Given the description of an element on the screen output the (x, y) to click on. 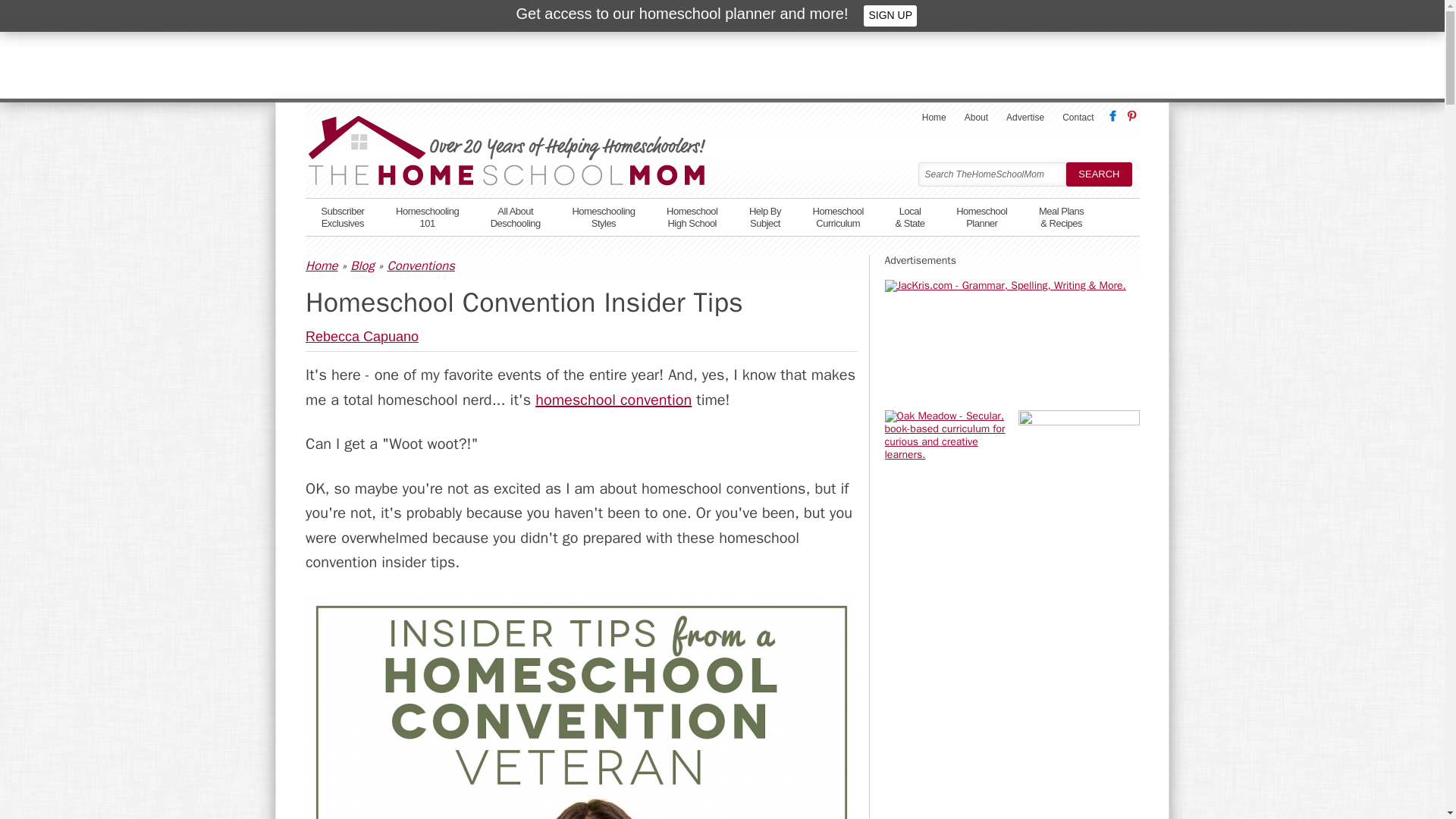
SEARCH (1098, 174)
Contact (515, 214)
Homeschool Newsletter Subscriber Exclusives (1077, 117)
Homeschooling High School (342, 214)
Site Search (342, 214)
Search TheHomeSchoolMom (691, 214)
SIGN UP (837, 214)
